Given the description of an element on the screen output the (x, y) to click on. 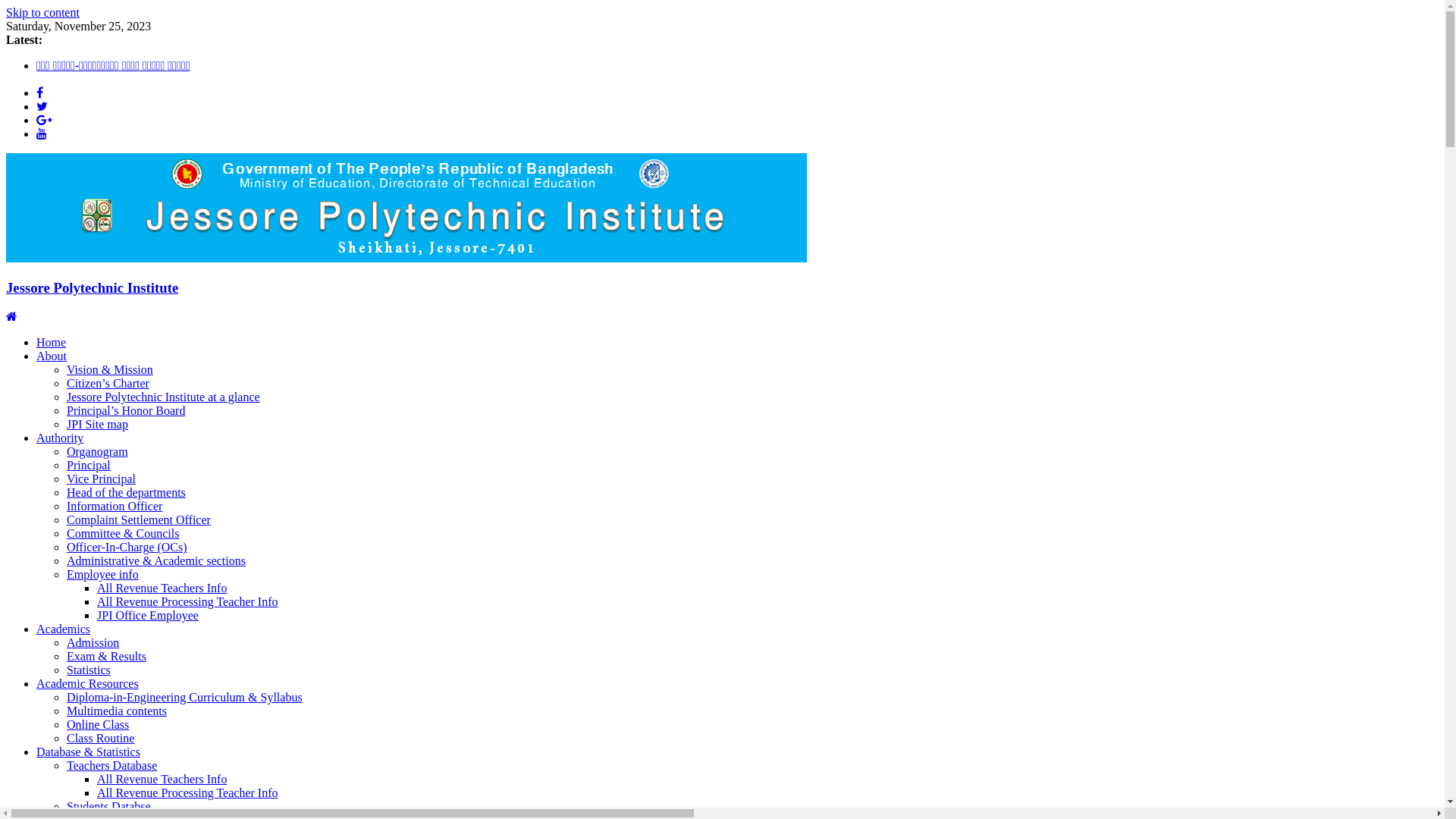
Class Routine Element type: text (100, 737)
Organogram Element type: text (97, 451)
Students Databse Element type: text (108, 806)
Committee & Councils Element type: text (122, 533)
Principal Element type: text (88, 464)
Information Officer Element type: text (114, 505)
Complaint Settlement Officer Element type: text (108, 78)
Jessore Polytechnic Institute at a glance Element type: text (163, 396)
Vice Principal Element type: text (100, 478)
About Element type: text (51, 355)
Online Class Element type: text (97, 724)
Jessore Polytechnic Institute Element type: hover (11, 316)
Academic Resources Element type: text (87, 683)
Complaint Settlement Officer Element type: text (138, 519)
Authority Element type: text (59, 437)
Multimedia contents Element type: text (116, 710)
Jessore Polytechnic Institute Element type: hover (406, 257)
Head of the departments Element type: text (125, 492)
All Revenue Teachers Info Element type: text (161, 778)
All Revenue Processing Teacher Info Element type: text (187, 601)
JPI Office Employee Element type: text (147, 614)
Teachers Database Element type: text (111, 765)
Exam & Results Element type: text (106, 655)
Vision & Mission Element type: text (109, 369)
Diploma-in-Engineering Curriculum & Syllabus Element type: text (184, 696)
Admission Element type: text (92, 642)
Database & Statistics Element type: text (88, 751)
JPI Site map Element type: text (97, 423)
Administrative & Academic sections Element type: text (155, 560)
Jessore Polytechnic Institute Element type: text (92, 287)
Skip to content Element type: text (42, 12)
Employee info Element type: text (102, 573)
Academics Element type: text (63, 628)
All Revenue Teachers Info Element type: text (161, 587)
Home Element type: text (50, 341)
Statistics Element type: text (88, 669)
Officer-In-Charge (OCs) Element type: text (126, 546)
All Revenue Processing Teacher Info Element type: text (187, 792)
